Given the description of an element on the screen output the (x, y) to click on. 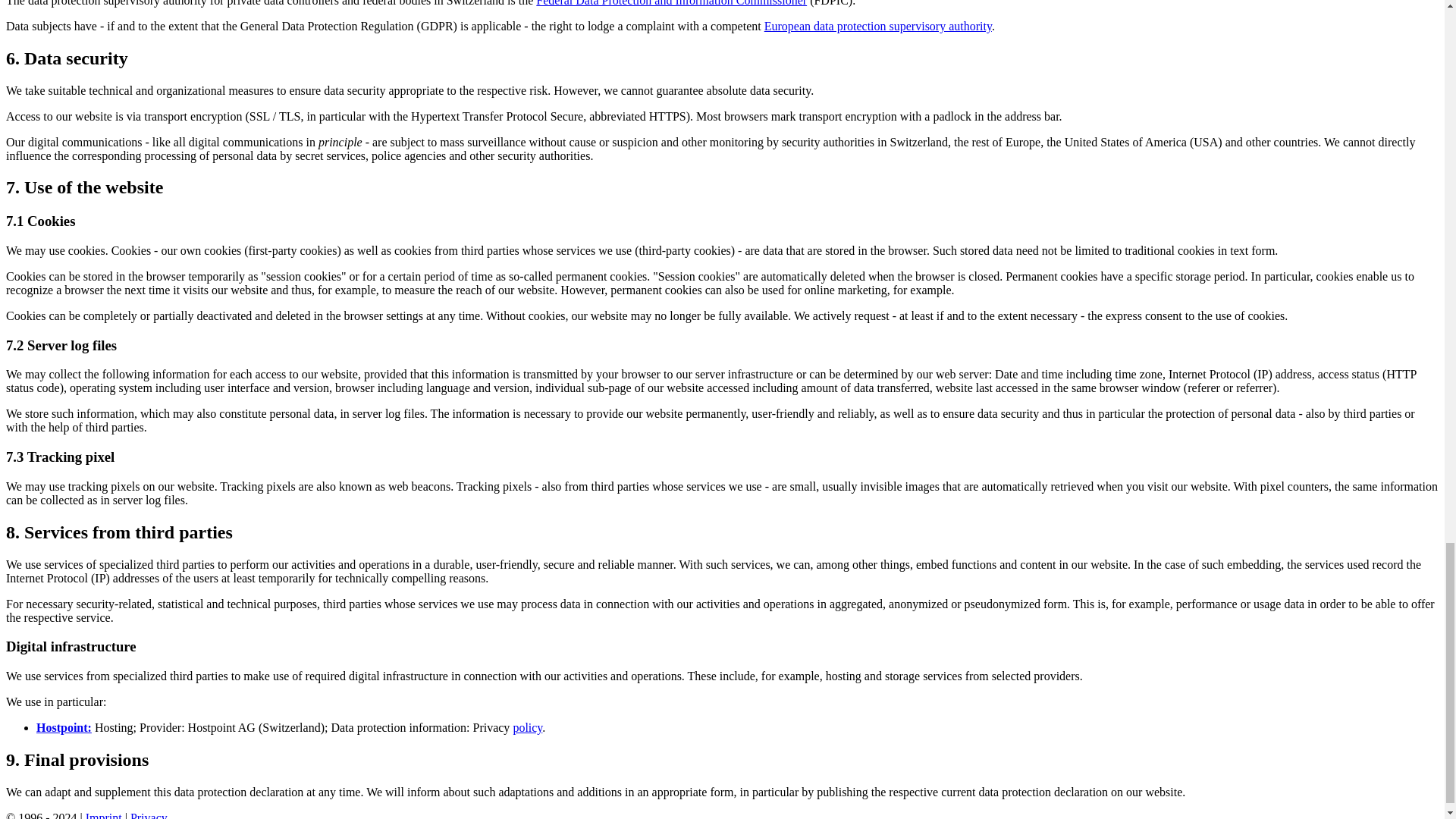
Federal Data Protection and Information Commissioner (670, 3)
policy (526, 727)
European data protection supervisory authority (877, 25)
Hostpoint: (63, 727)
